Given the description of an element on the screen output the (x, y) to click on. 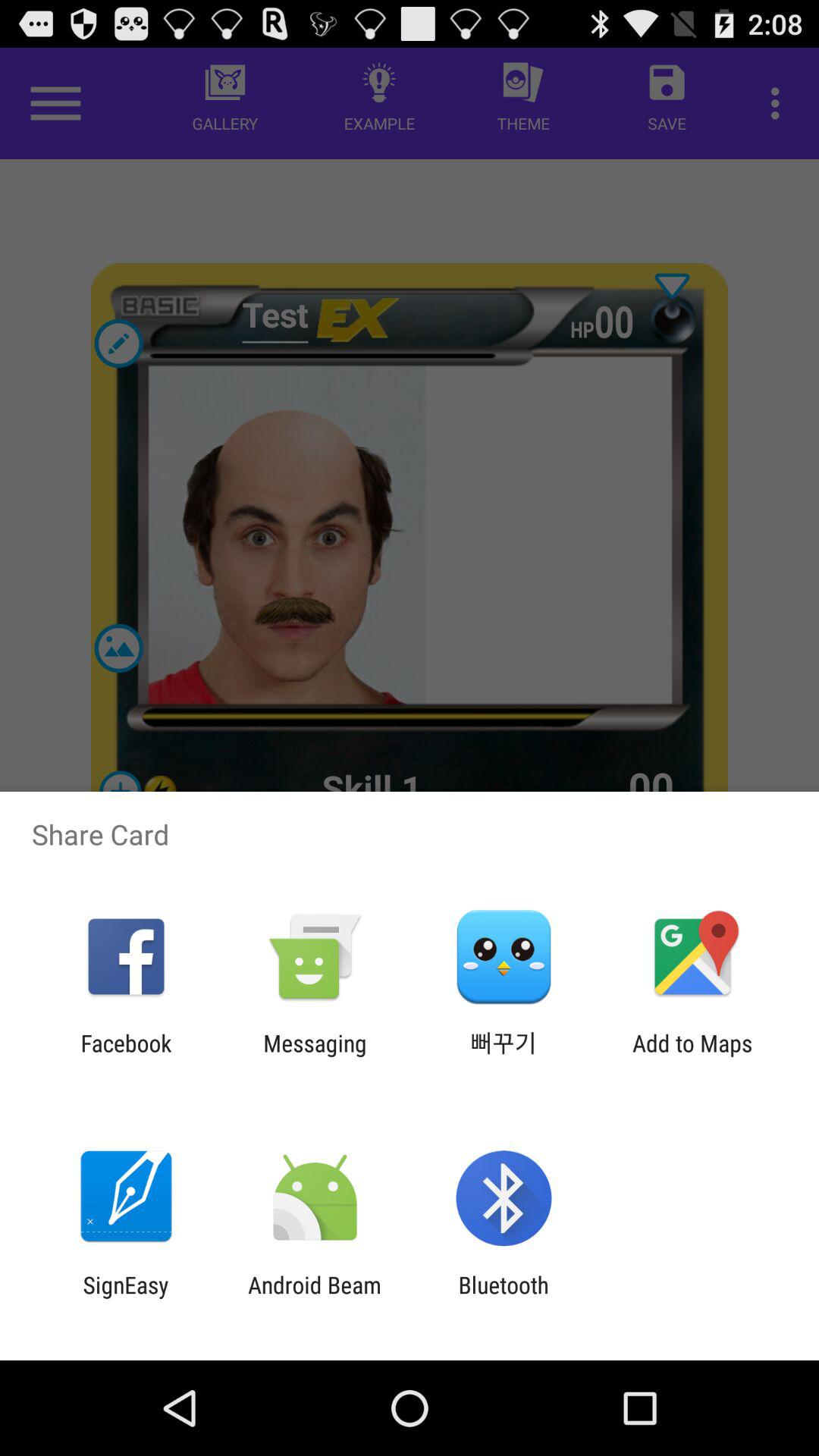
swipe until bluetooth icon (503, 1298)
